Given the description of an element on the screen output the (x, y) to click on. 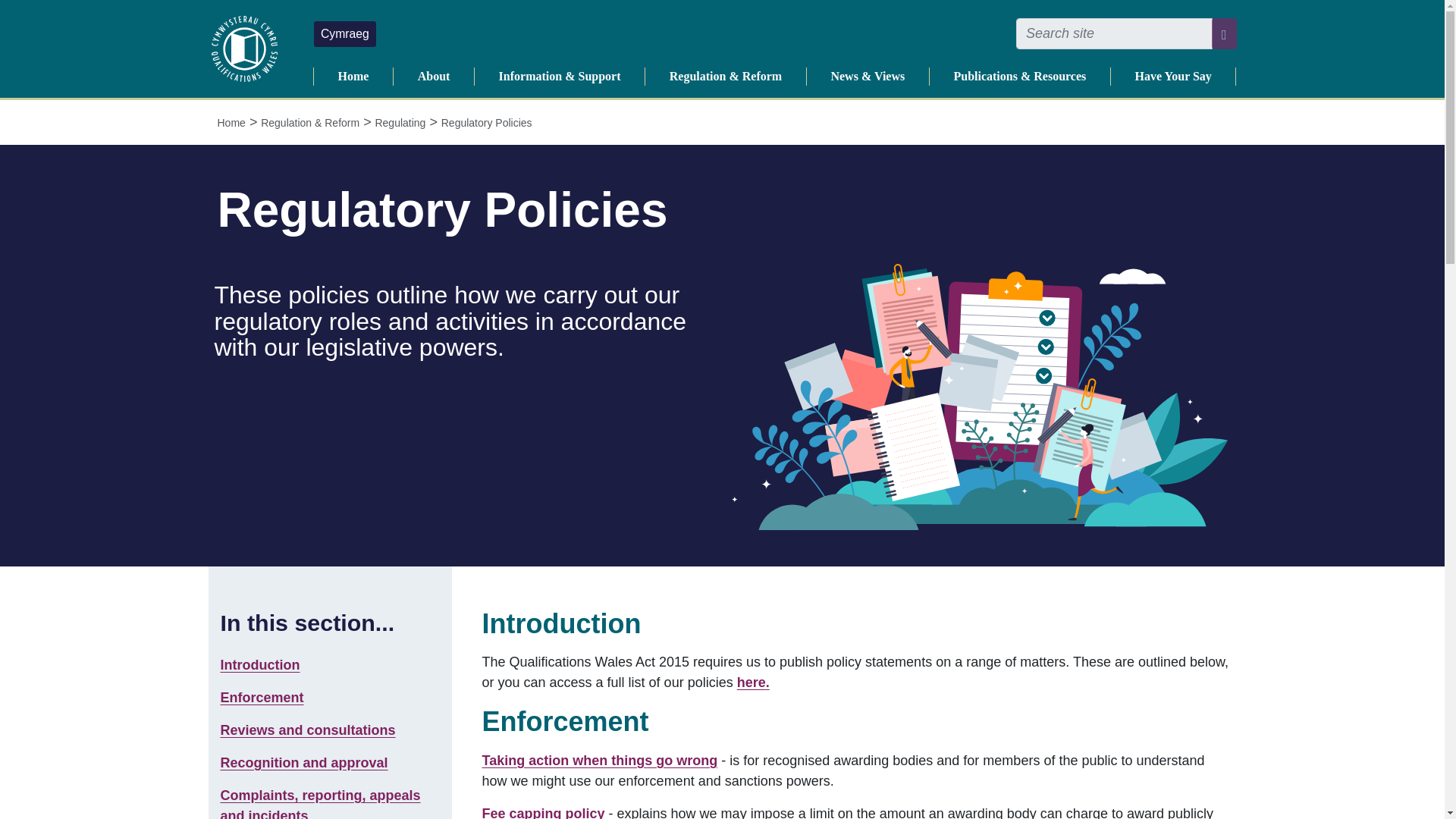
Regulatory Documents List (750, 682)
Reviews and consultations (306, 729)
Home (230, 122)
Fee capping policy (543, 812)
Home (353, 76)
Taking action when things go wrong (599, 760)
Fee Capping Policy (543, 812)
Introduction (259, 664)
Taking Action When Things Go Wrong (599, 760)
Enforcement (260, 697)
